Given the description of an element on the screen output the (x, y) to click on. 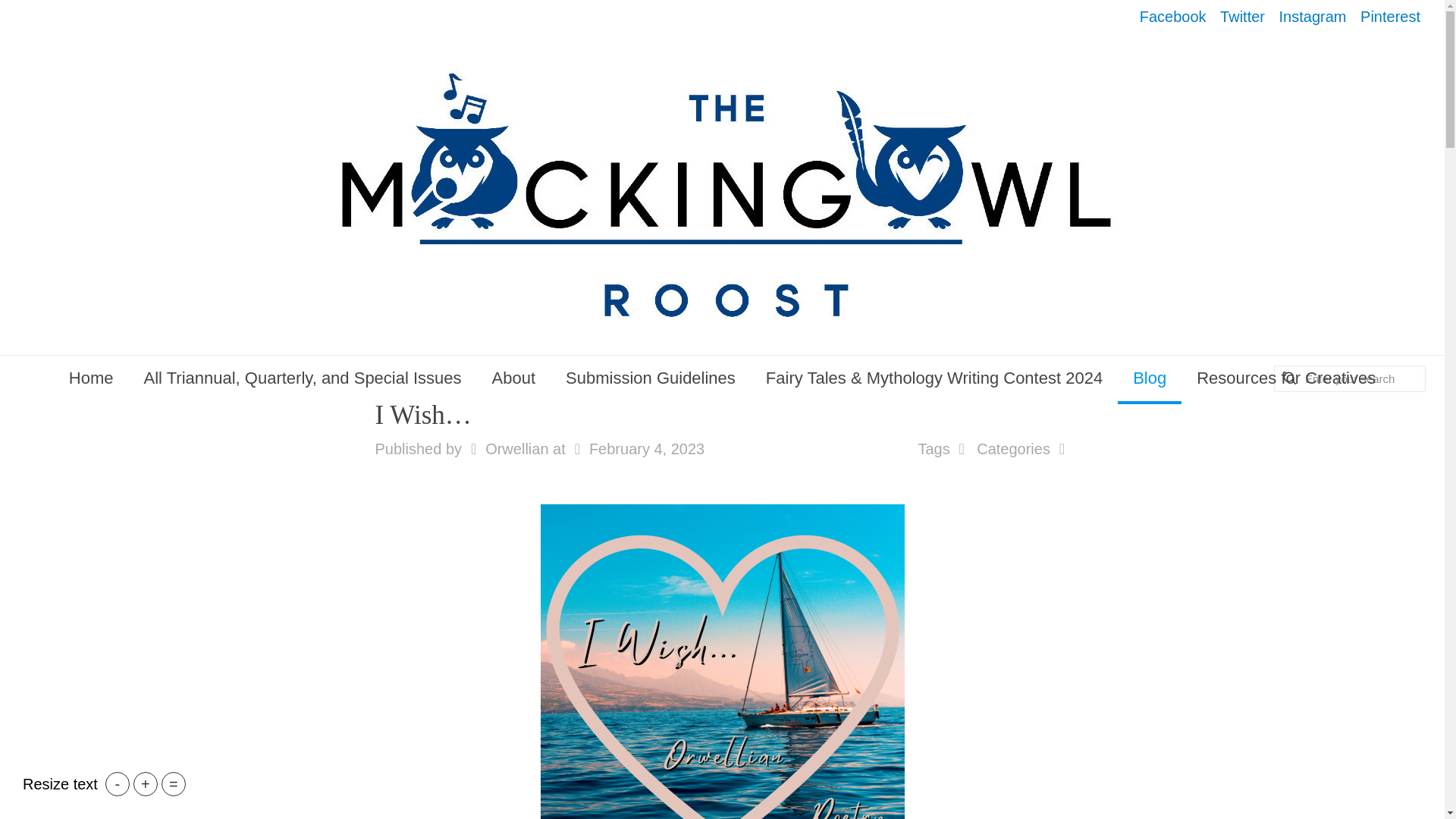
Decrease text size (116, 784)
About (514, 378)
Home (91, 378)
Increase text size (145, 784)
All Triannual, Quarterly, and Special Issues (303, 378)
Facebook (1173, 16)
Submission Guidelines (650, 378)
Twitter (1242, 16)
Pinterest (1390, 16)
Blog (1149, 378)
Reset text size (173, 784)
Instagram (1312, 16)
